Given the description of an element on the screen output the (x, y) to click on. 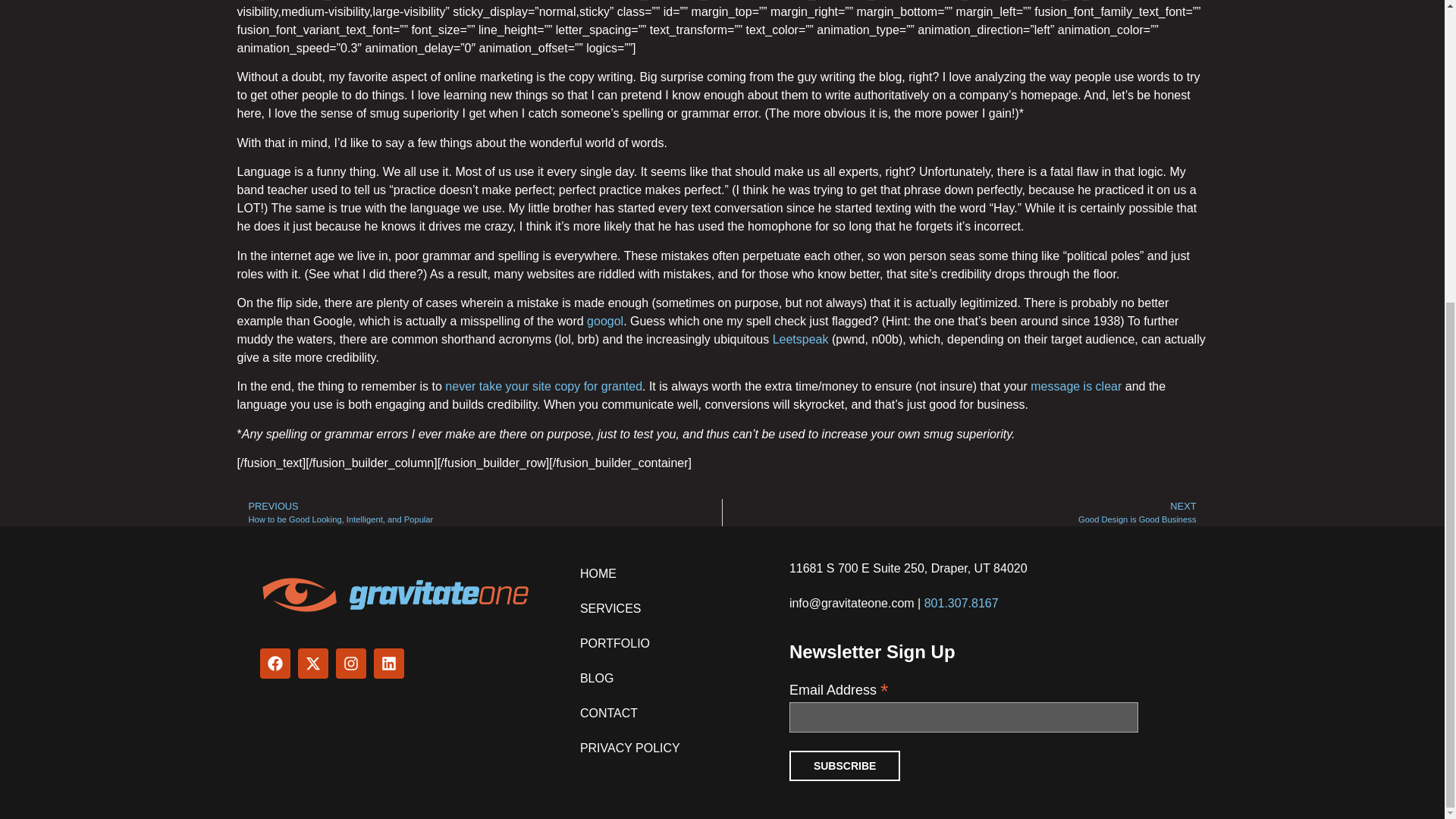
never take your site copy for granted (543, 386)
Subscribe (844, 766)
message is clear (965, 512)
Homepage (1075, 386)
googol (478, 512)
Leetspeak (396, 594)
